Given the description of an element on the screen output the (x, y) to click on. 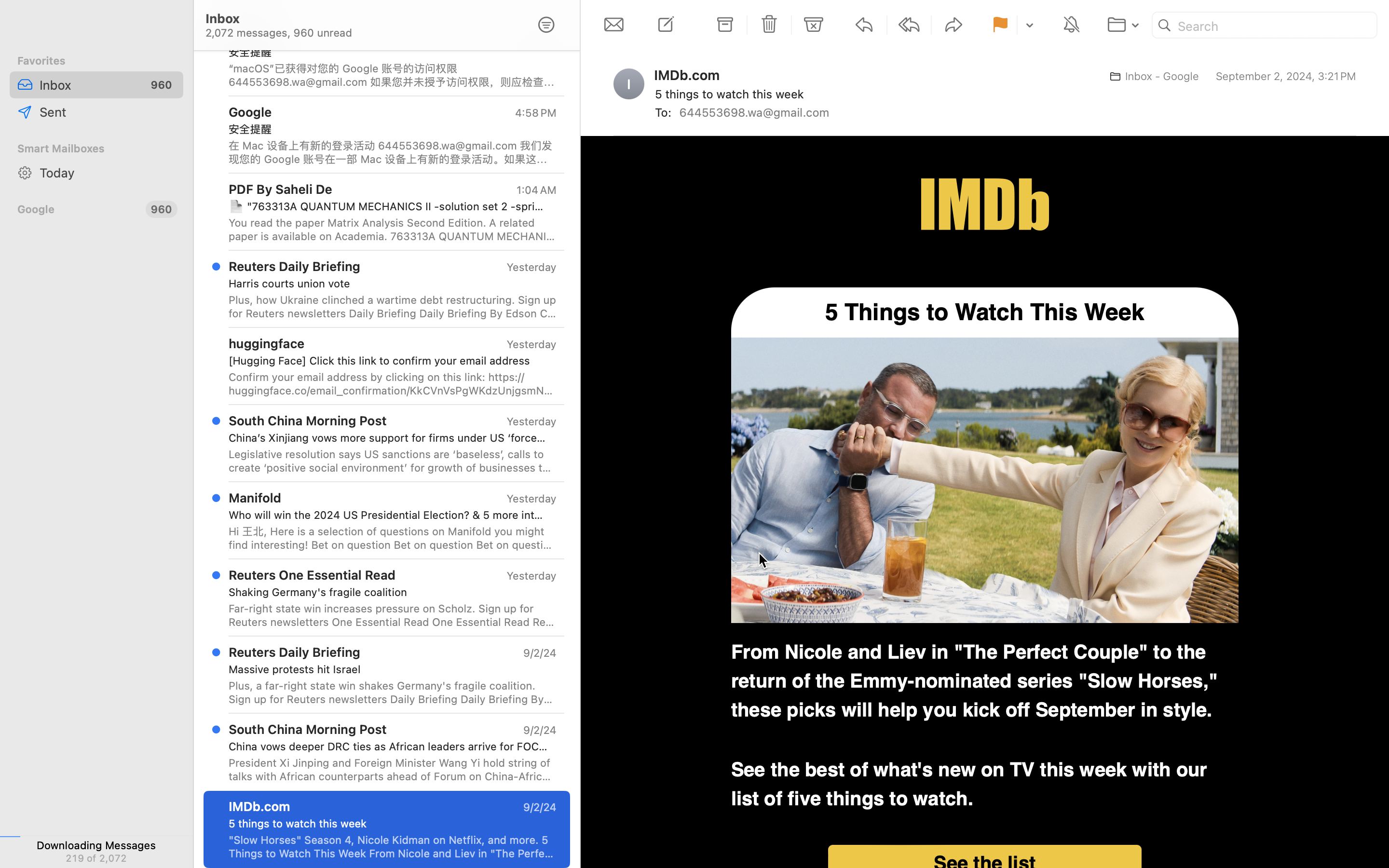
September 2, 2024, 3:21 PM Element type: AXStaticText (1285, 75)
Reuters Daily Briefing Element type: AXStaticText (294, 265)
"Slow Horses" Season 4, Nicole Kidman on Netflix, and more. 5 Things to Watch This Week From Nicole and Liev in "The Perfect Couple" to the return of the Emmy-nominated series "Slow Horses," these picks will help you kick off September in style. See the best of what's new on TV this week with our list of five things to watch. See the list Slow Horses Season 4 of this spy drama raises the stakes as the Slough House crew investigates a bombing when the series returns to Apple TV+. Learn more Tell Me Lies Lucy and Stephen return to Baird College as the fallout from their relationship continues to resonate in Season 2 of this Hulu drama. Learn more The Perfect Couple An idyllic Nantucket wedding crumbles when a body is found in the bay, turning everyone into a suspect in this Netflix limited series based on the bestselling novel by Elin Hilderbrand. Learn more The Boy and the Heron Mahito ventures into the world of the dead after his mother's passing in this Academy Award-winning film's st Element type: AXStaticText (392, 846)
📄 "763313A QUANTUM MECHANICS II -solution set 2 -spring 2014" by Saheli De Element type: AXStaticText (388, 206)
Smart Mailboxes Element type: AXStaticText (96, 148)
